Given the description of an element on the screen output the (x, y) to click on. 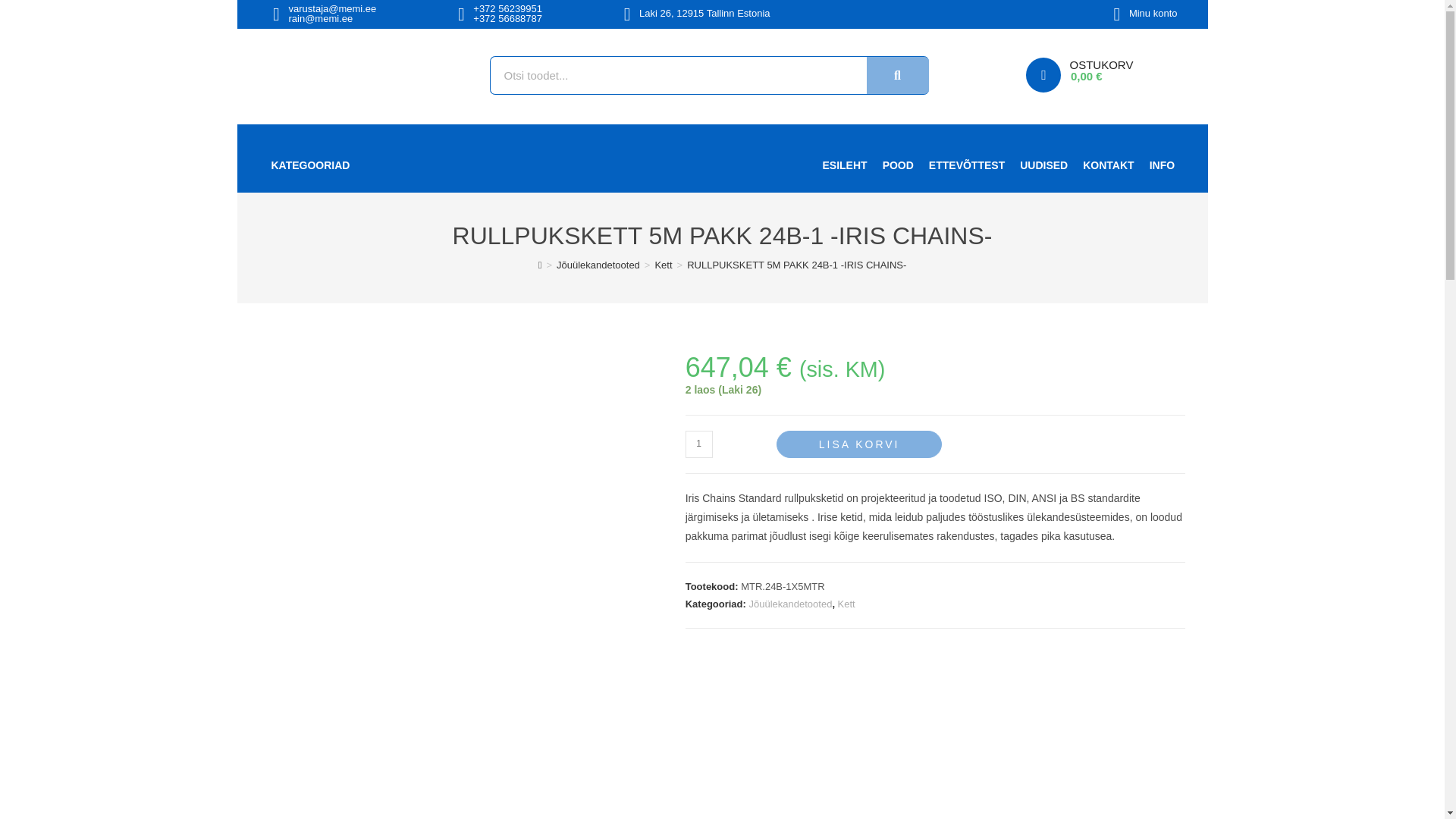
Minu konto (1153, 12)
1 (699, 443)
ESILEHT (844, 164)
OSTUKORV (1100, 64)
UUDISED (1043, 164)
KATEGOORIAD (320, 164)
POOD (898, 164)
Laki 26, 12915 Tallinn Estonia (704, 12)
